Given the description of an element on the screen output the (x, y) to click on. 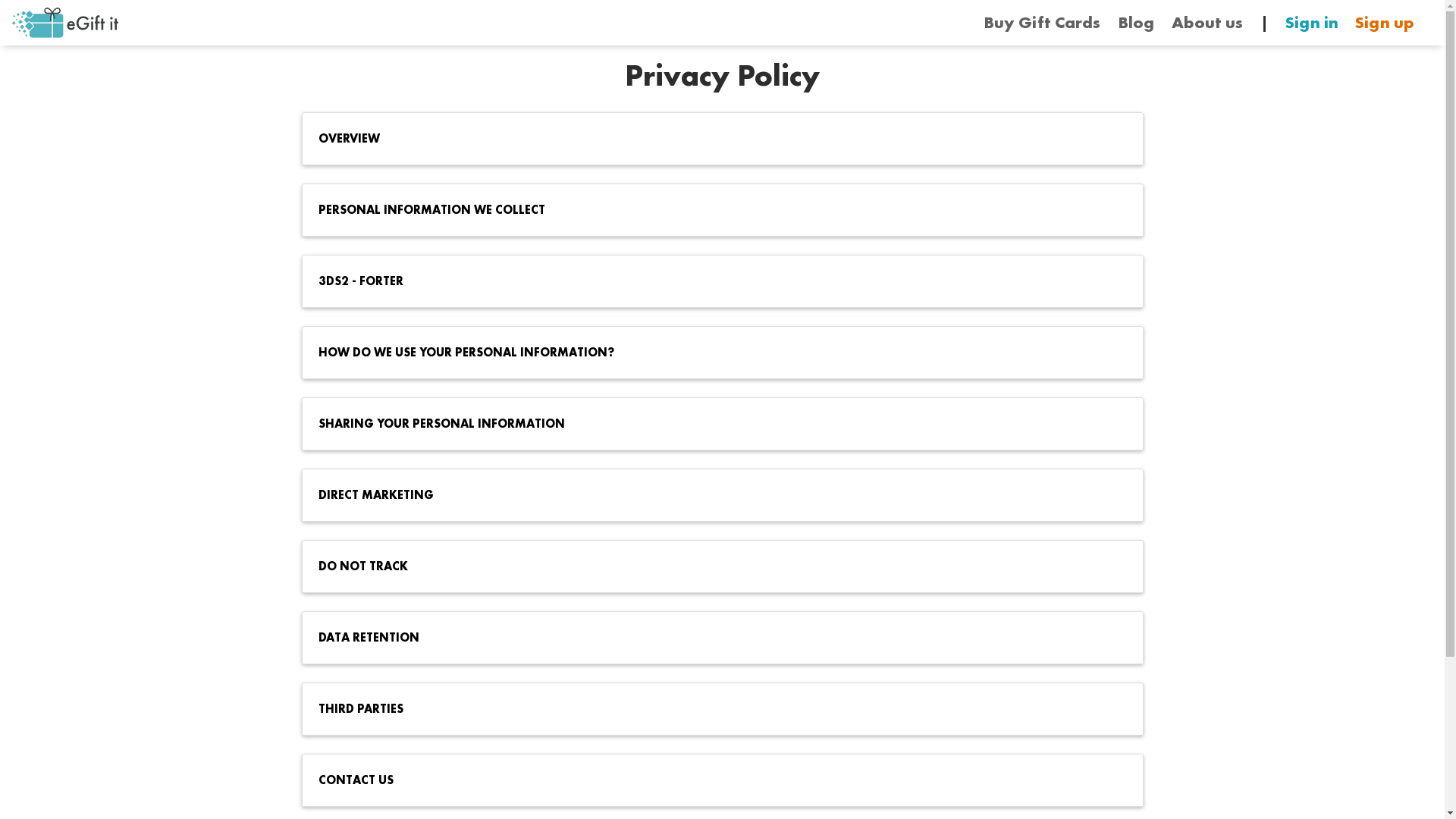
HOW DO WE USE YOUR PERSONAL INFORMATION? Element type: text (711, 352)
Sign up Element type: text (1384, 22)
3DS2 - FORTER Element type: text (711, 281)
CONTACT US Element type: text (711, 780)
PERSONAL INFORMATION WE COLLECT Element type: text (711, 209)
DO NOT TRACK Element type: text (711, 566)
SHARING YOUR PERSONAL INFORMATION Element type: text (711, 423)
DATA RETENTION Element type: text (711, 637)
DIRECT MARKETING Element type: text (711, 494)
About us Element type: text (1206, 22)
THIRD PARTIES Element type: text (711, 708)
Sign in Element type: text (1311, 22)
OVERVIEW Element type: text (711, 138)
Buy Gift Cards Element type: text (1041, 22)
Blog Element type: text (1135, 22)
